Given the description of an element on the screen output the (x, y) to click on. 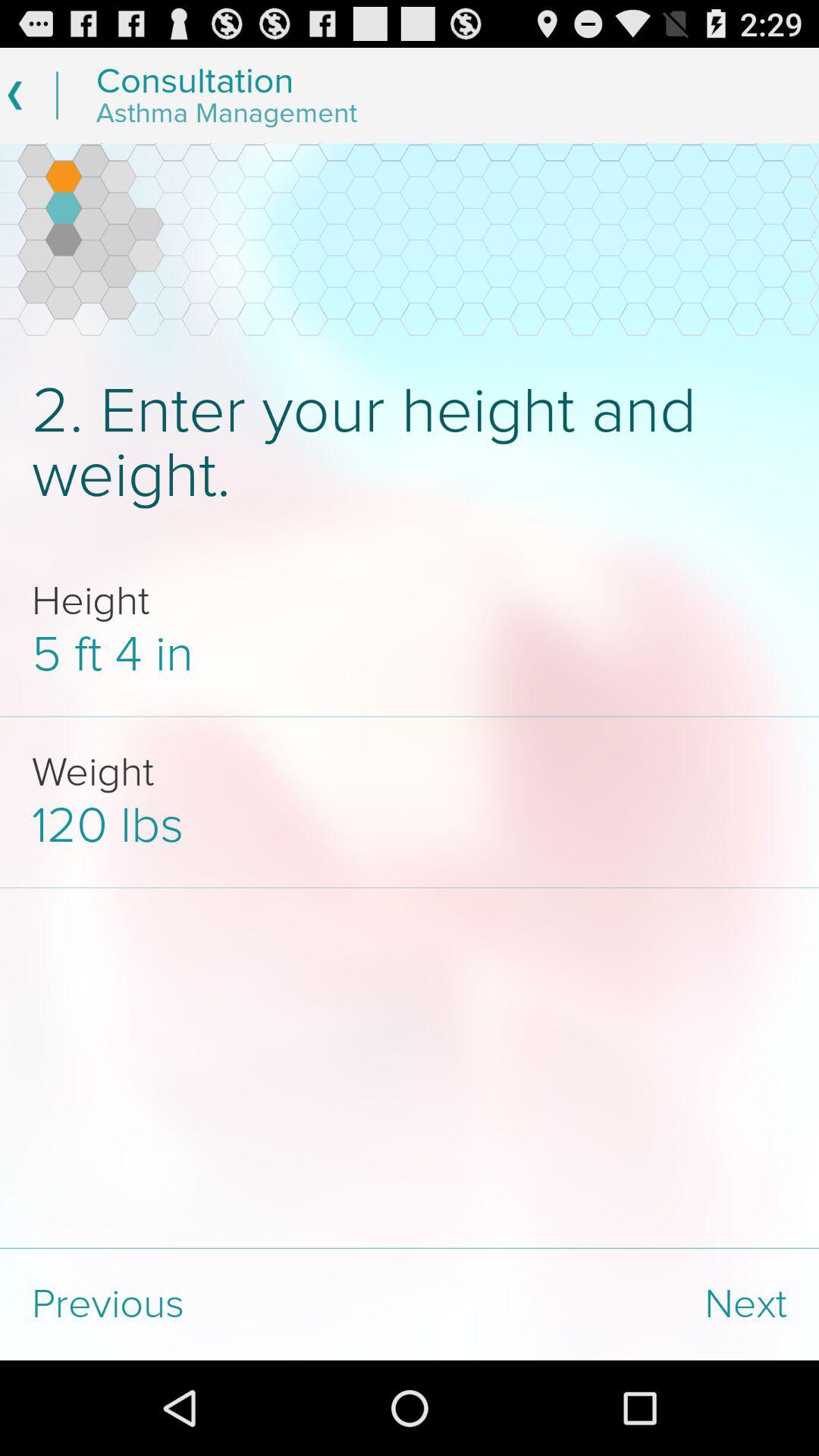
turn on 2 enter your app (409, 443)
